Given the description of an element on the screen output the (x, y) to click on. 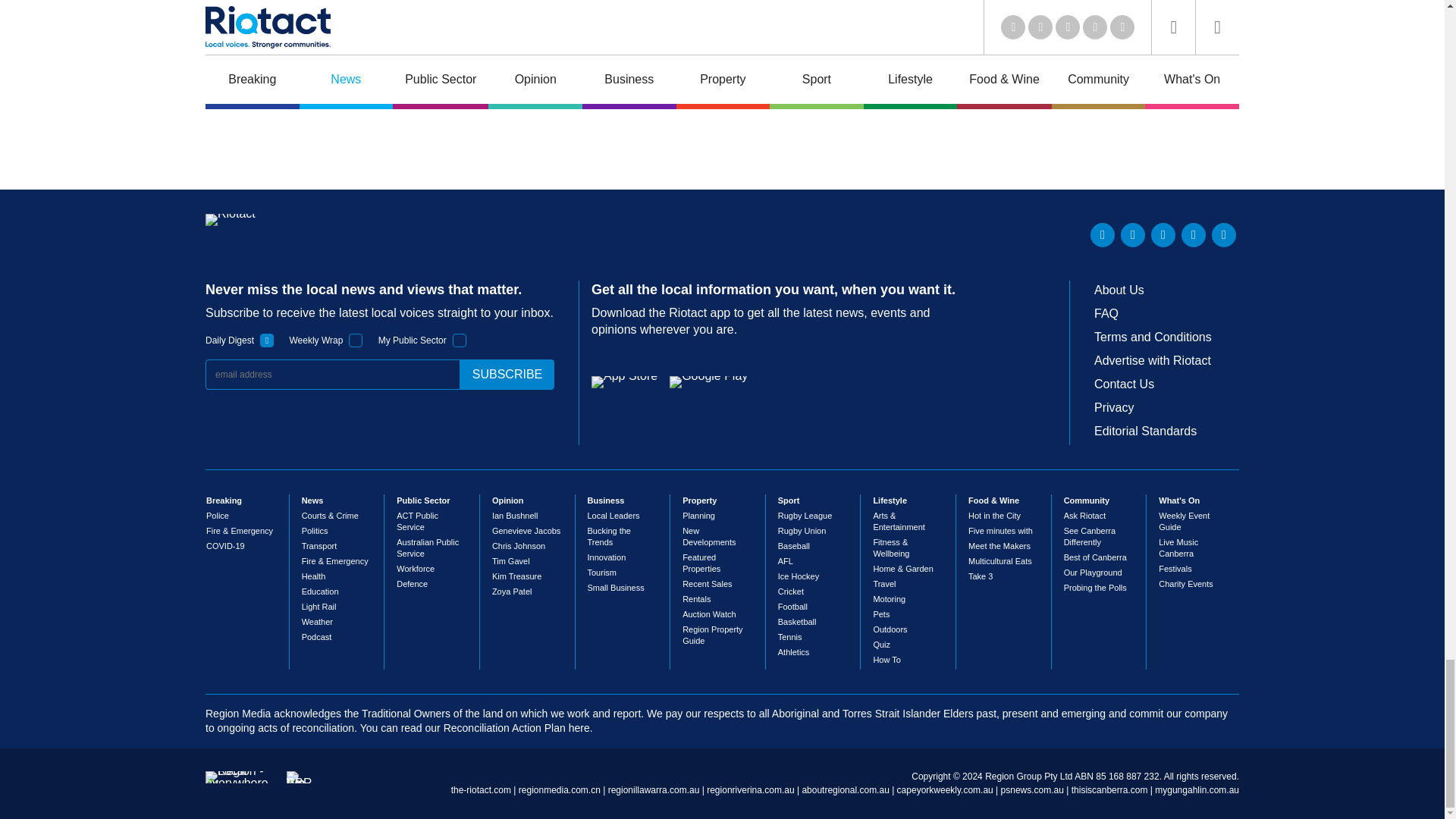
1 (458, 340)
Twitter (1132, 234)
LinkedIn (1102, 234)
1 (266, 340)
1 (355, 340)
subscribe (507, 374)
